Given the description of an element on the screen output the (x, y) to click on. 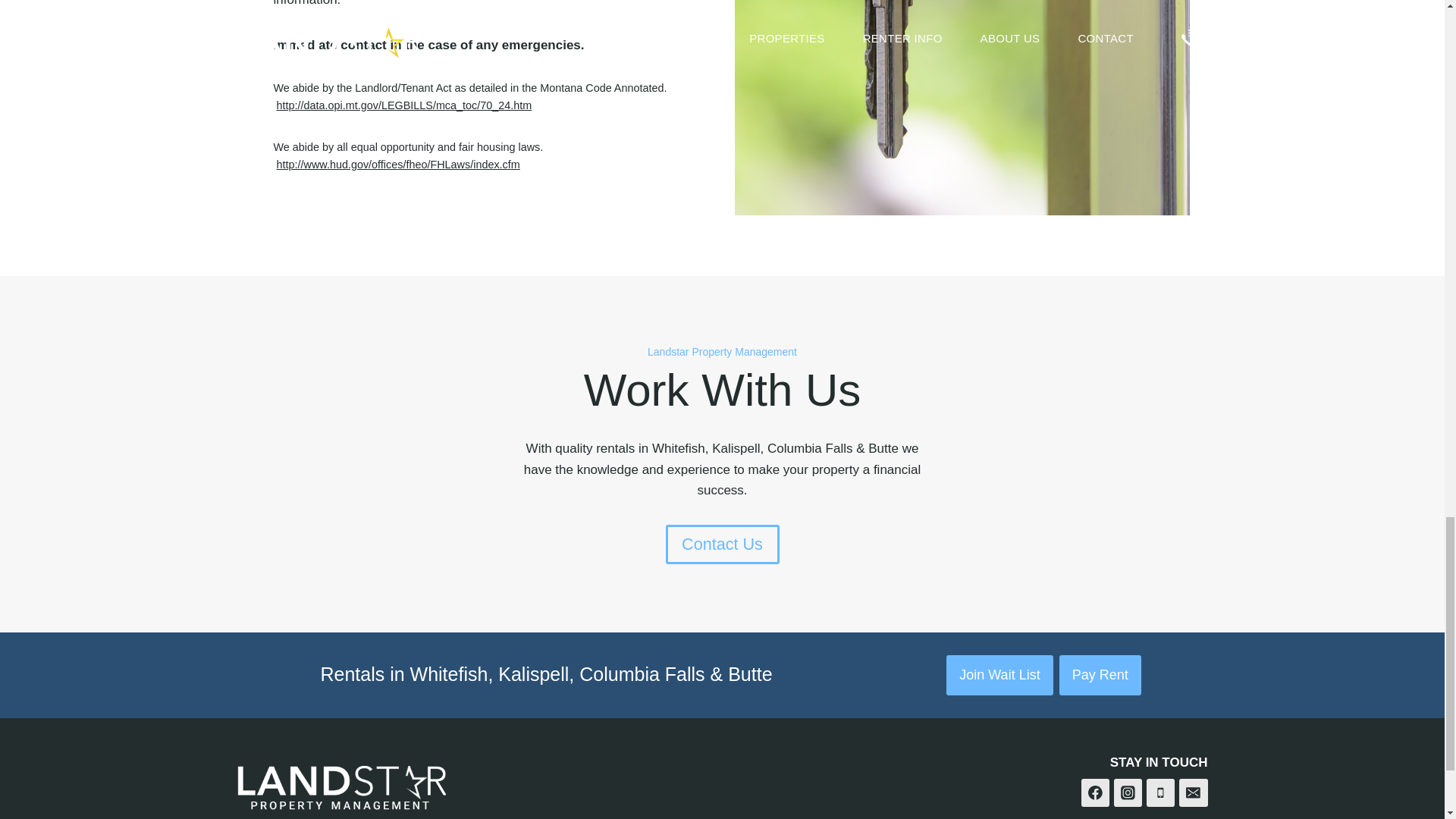
Contact Us (721, 544)
Join Wait List (999, 675)
Pay Rent (1100, 675)
